Given the description of an element on the screen output the (x, y) to click on. 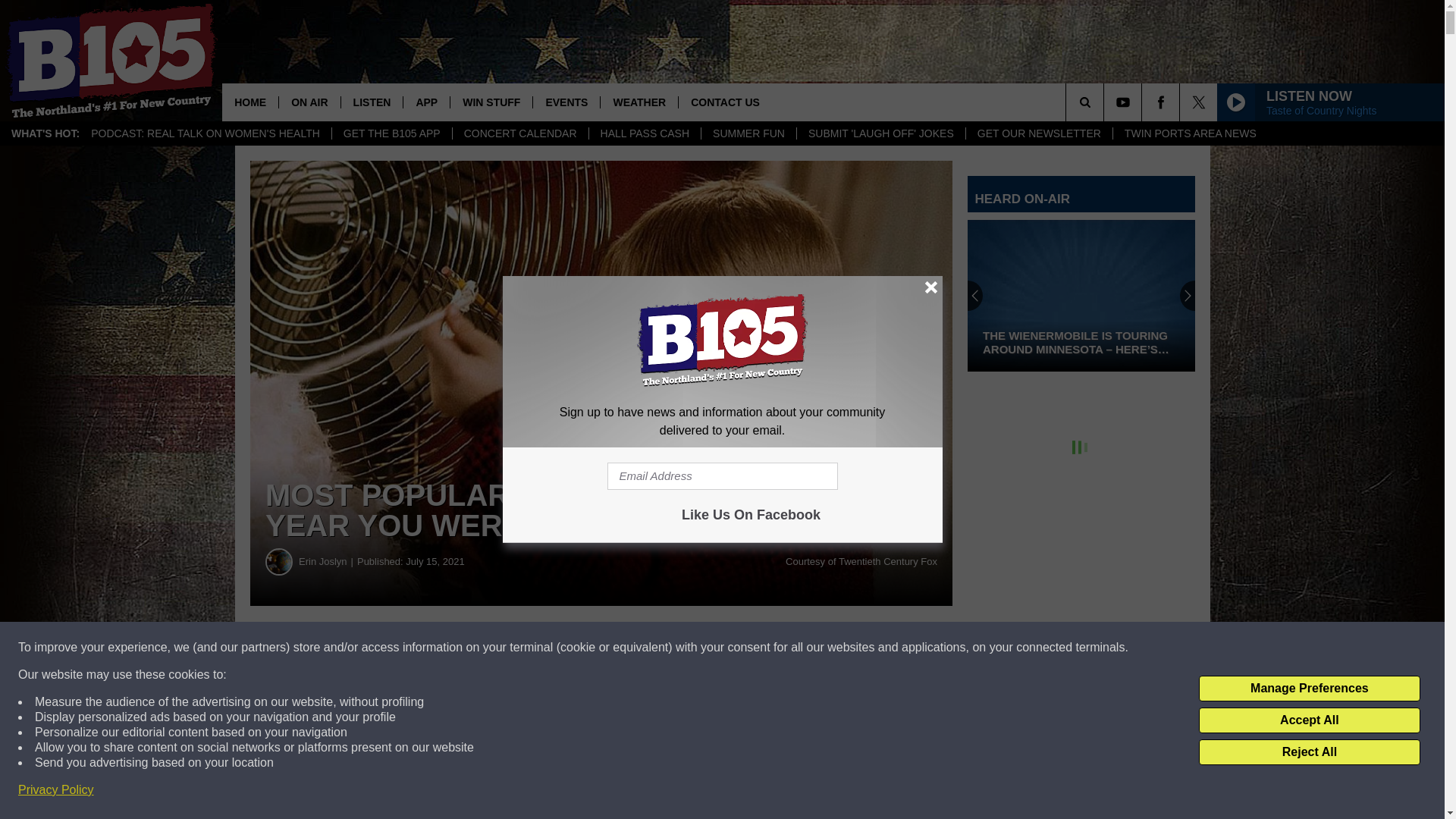
HALL PASS CASH (644, 133)
PODCAST: REAL TALK ON WOMEN'S HEALTH (205, 133)
GET OUR NEWSLETTER (1038, 133)
HOME (250, 102)
WIN STUFF (490, 102)
Privacy Policy (55, 789)
Share on Facebook (460, 647)
SEARCH (1106, 102)
APP (426, 102)
SUBMIT 'LAUGH OFF' JOKES (880, 133)
SUMMER FUN (748, 133)
Reject All (1309, 751)
Share on Twitter (741, 647)
GET THE B105 APP (391, 133)
LISTEN (371, 102)
